Given the description of an element on the screen output the (x, y) to click on. 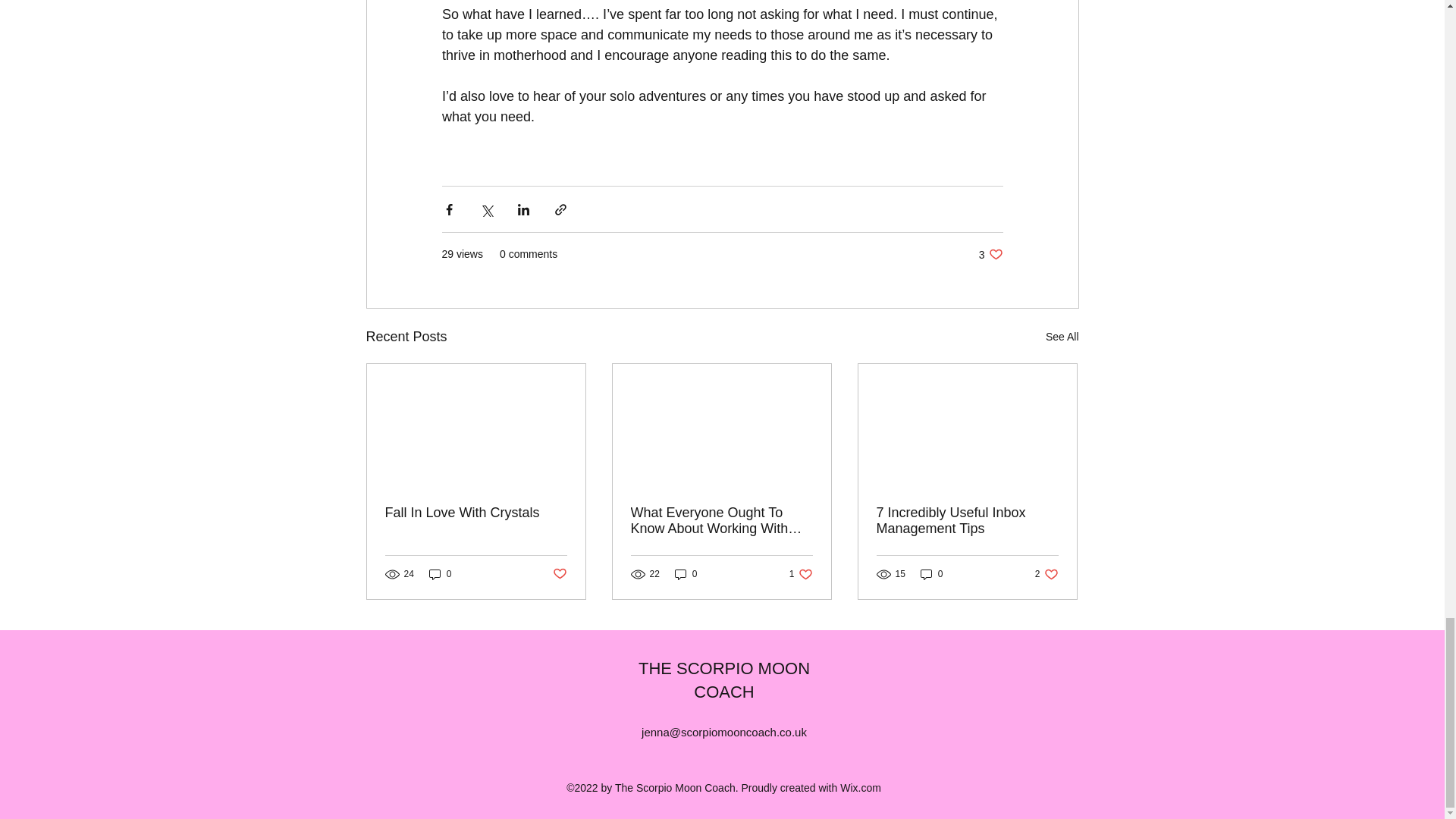
7 Incredibly Useful Inbox Management Tips (967, 521)
0 (440, 574)
Fall In Love With Crystals (476, 512)
0 (931, 574)
THE SCORPIO MOON COACH (724, 680)
See All (800, 574)
Post not marked as liked (1061, 336)
0 (990, 254)
